Given the description of an element on the screen output the (x, y) to click on. 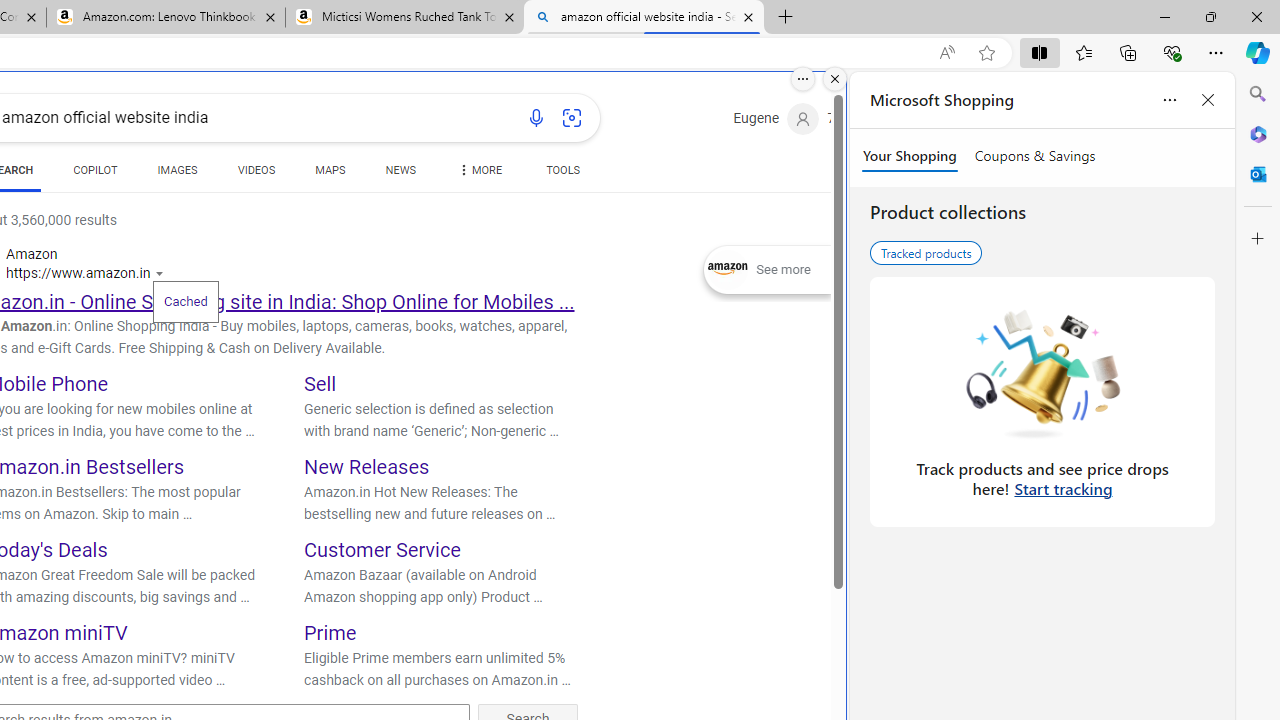
Close (1256, 16)
NEWS (400, 173)
New Releases (367, 466)
Expand (727, 269)
COPILOT (95, 173)
Close tab (747, 16)
